Given the description of an element on the screen output the (x, y) to click on. 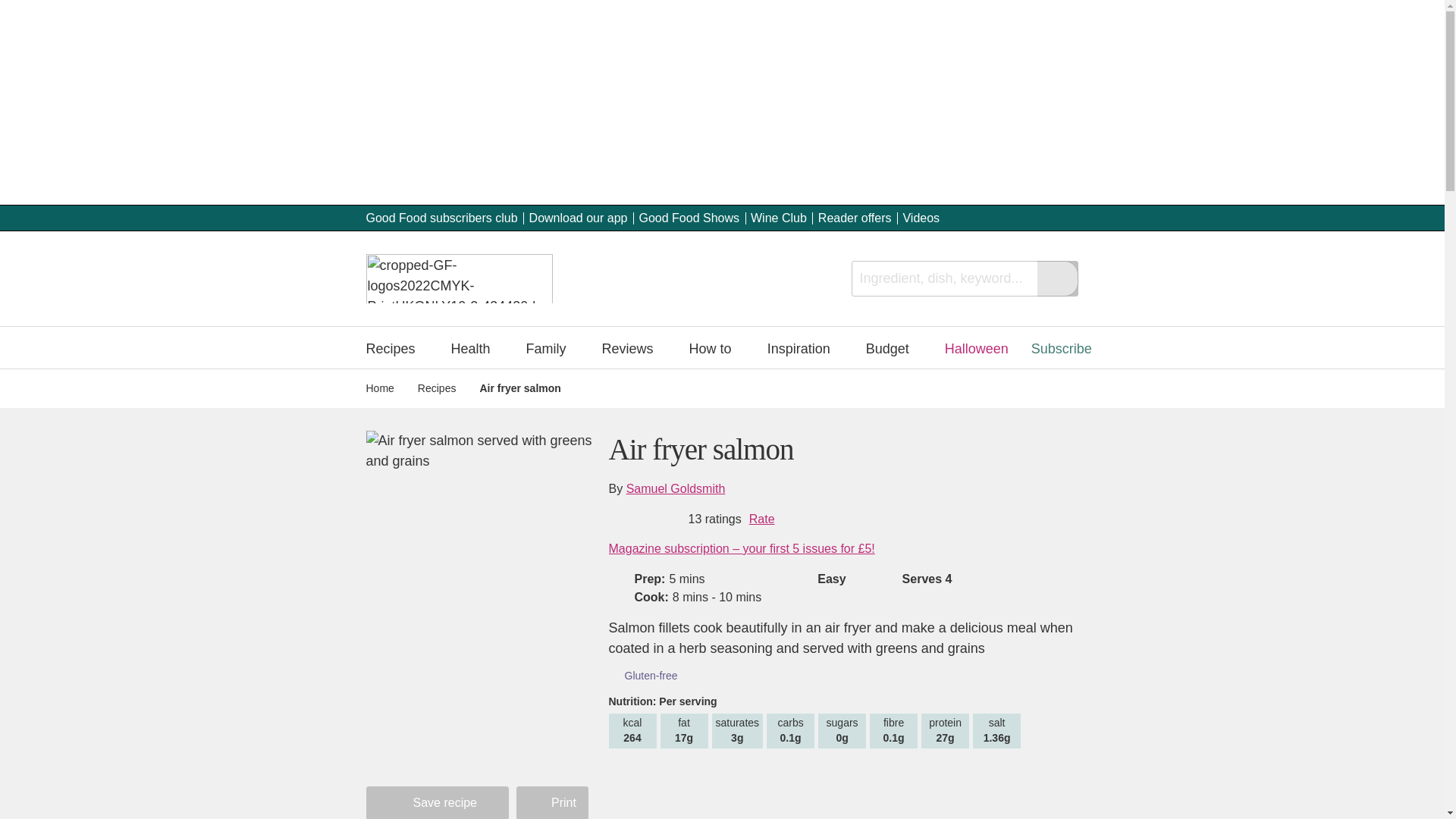
Good Food Shows (689, 216)
Recipes (397, 347)
Download our app (578, 216)
Reader offers (854, 216)
Reader offers (854, 216)
Videos (920, 216)
Recipes (397, 347)
Wine Club (778, 216)
Good Food subscribers club (440, 216)
Wine Club (778, 216)
